Given the description of an element on the screen output the (x, y) to click on. 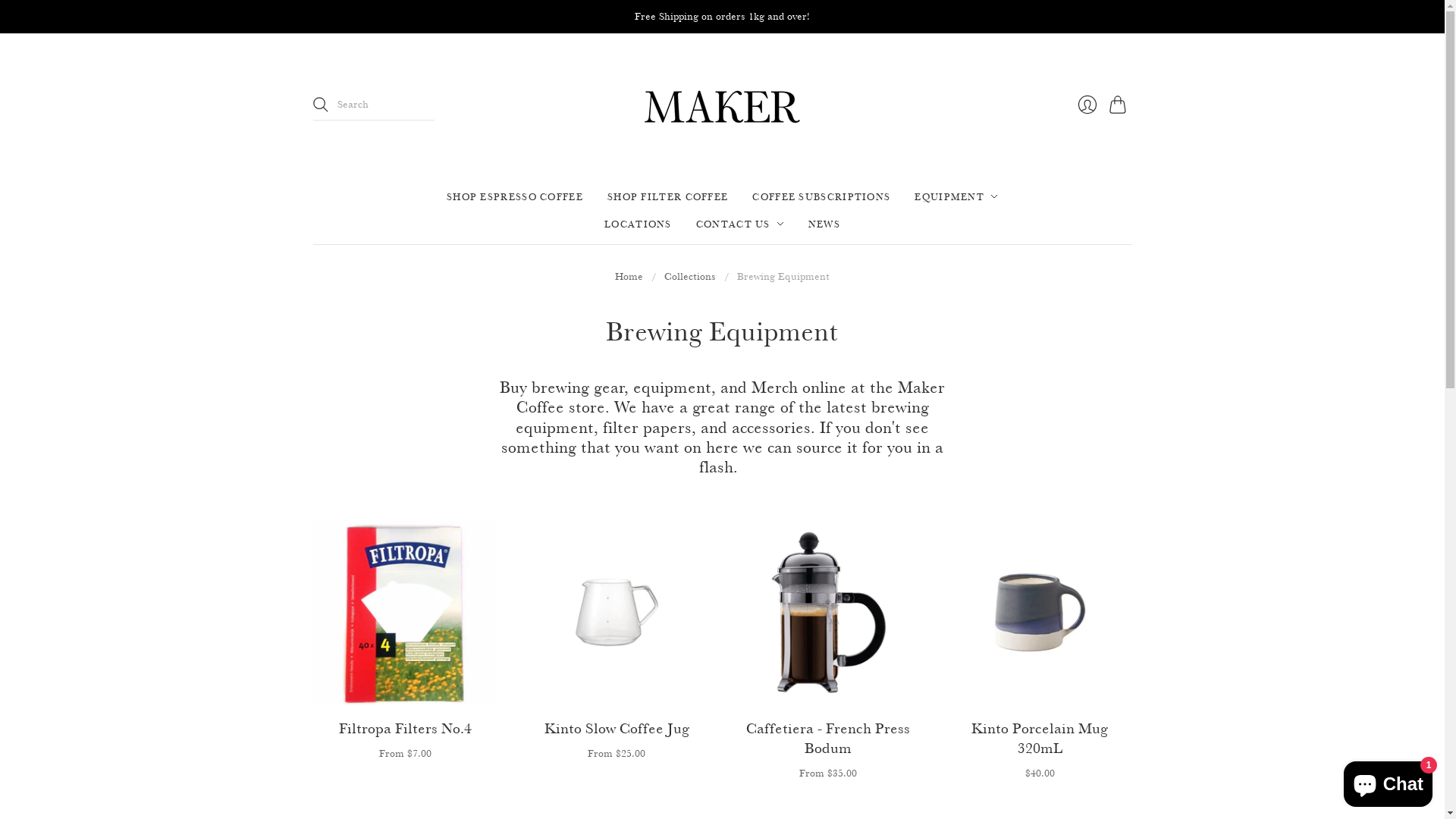
SHOP ESPRESSO COFFEE Element type: text (514, 196)
LOCATIONS Element type: text (637, 223)
Shopify online store chat Element type: hover (1388, 780)
Caffetiera - French Press Bodum Element type: text (828, 737)
Login Element type: text (1086, 104)
Cart Element type: text (1119, 104)
Free Shipping on orders 1kg and over! Element type: text (722, 16)
NEWS Element type: text (824, 223)
SHOP FILTER COFFEE Element type: text (667, 196)
Filtropa Filters No.4 Element type: text (404, 727)
Kinto Porcelain Mug 320mL Element type: text (1039, 737)
Kinto Slow Coffee Jug Element type: text (616, 727)
COFFEE SUBSCRIPTIONS Element type: text (821, 196)
Home Element type: text (629, 276)
Collections Element type: text (689, 276)
